Given the description of an element on the screen output the (x, y) to click on. 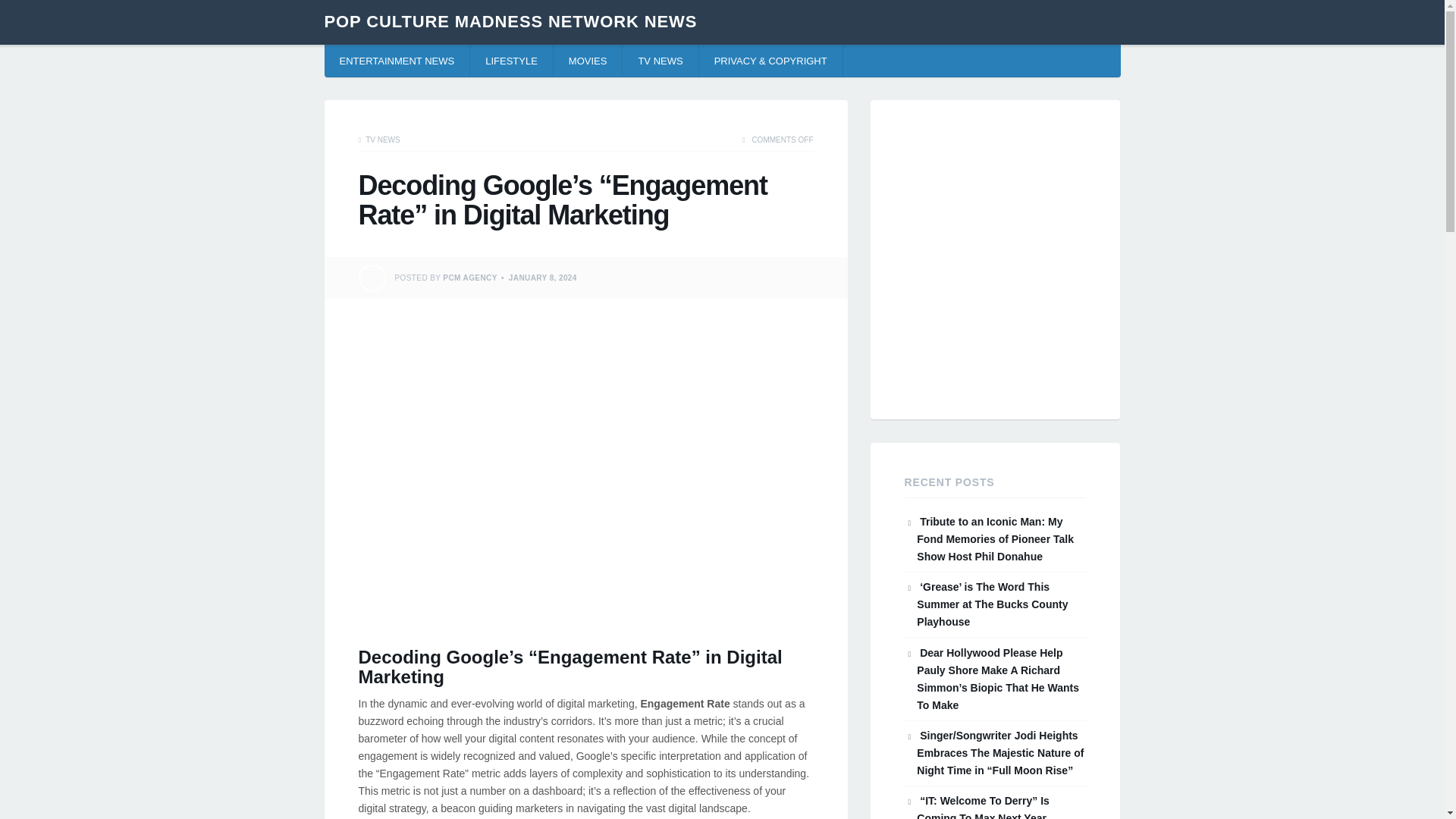
ENTERTAINMENT NEWS (397, 60)
MOVIES (588, 60)
TV NEWS (382, 139)
PCM AGENCY (469, 277)
TV NEWS (660, 60)
POP CULTURE MADNESS NETWORK NEWS (510, 21)
JANUARY 8, 2024 (542, 277)
View all posts by PCM Agency (469, 277)
LIFESTYLE (511, 60)
